Given the description of an element on the screen output the (x, y) to click on. 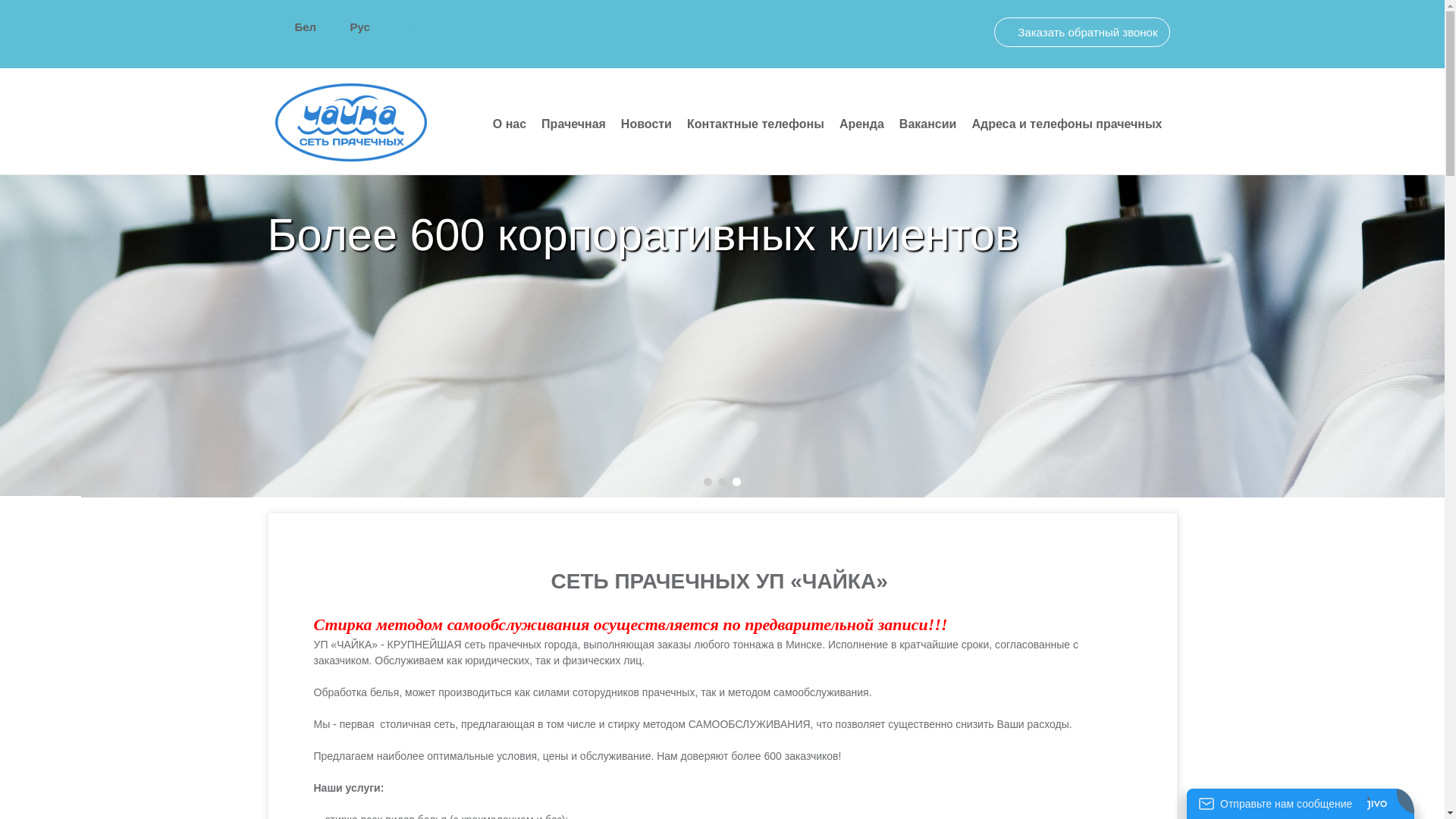
A Element type: text (464, 30)
A Element type: text (422, 28)
A Element type: text (444, 29)
